Given the description of an element on the screen output the (x, y) to click on. 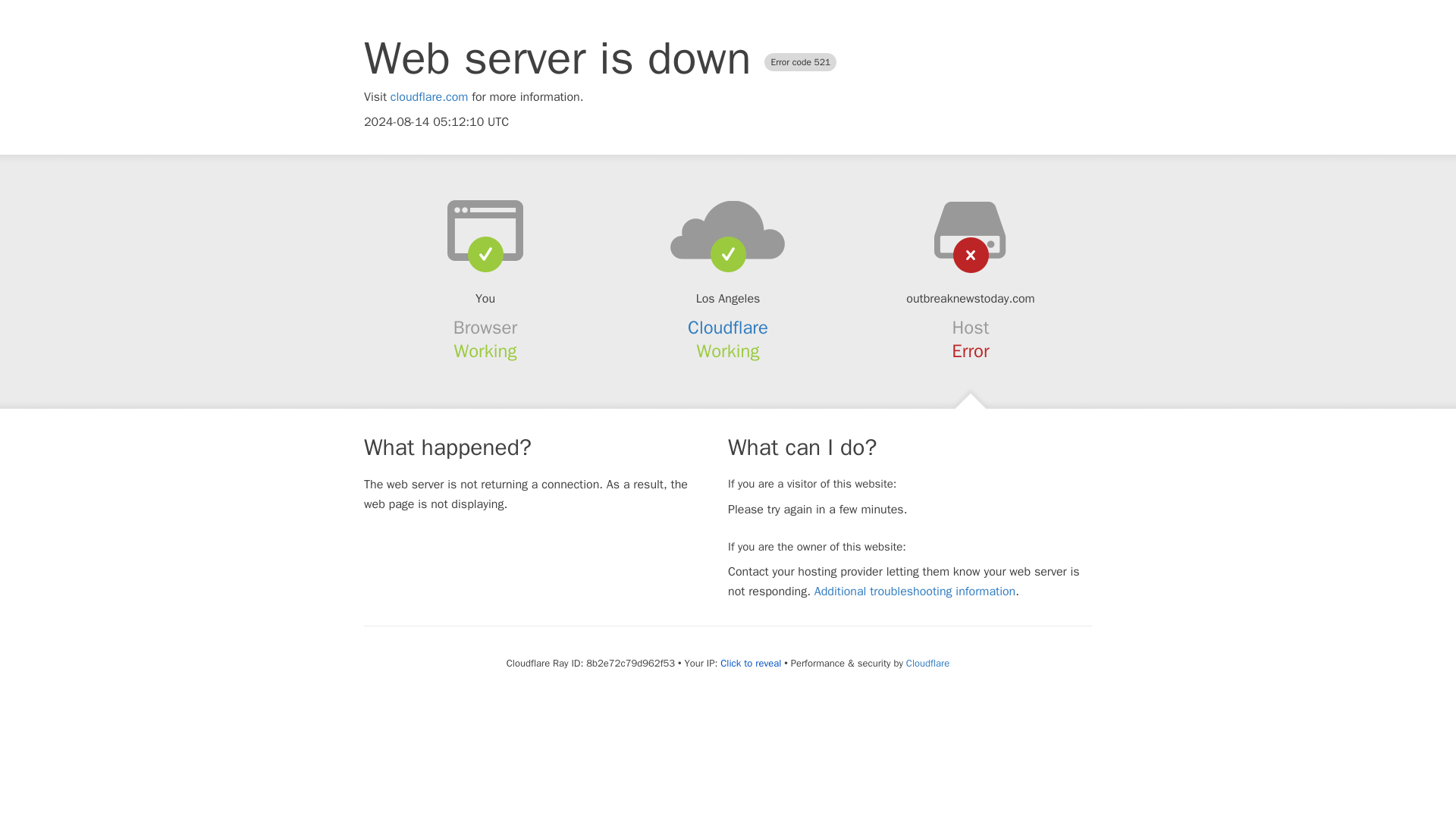
Cloudflare (927, 662)
Cloudflare (727, 327)
cloudflare.com (429, 96)
Additional troubleshooting information (913, 590)
Click to reveal (750, 663)
